Given the description of an element on the screen output the (x, y) to click on. 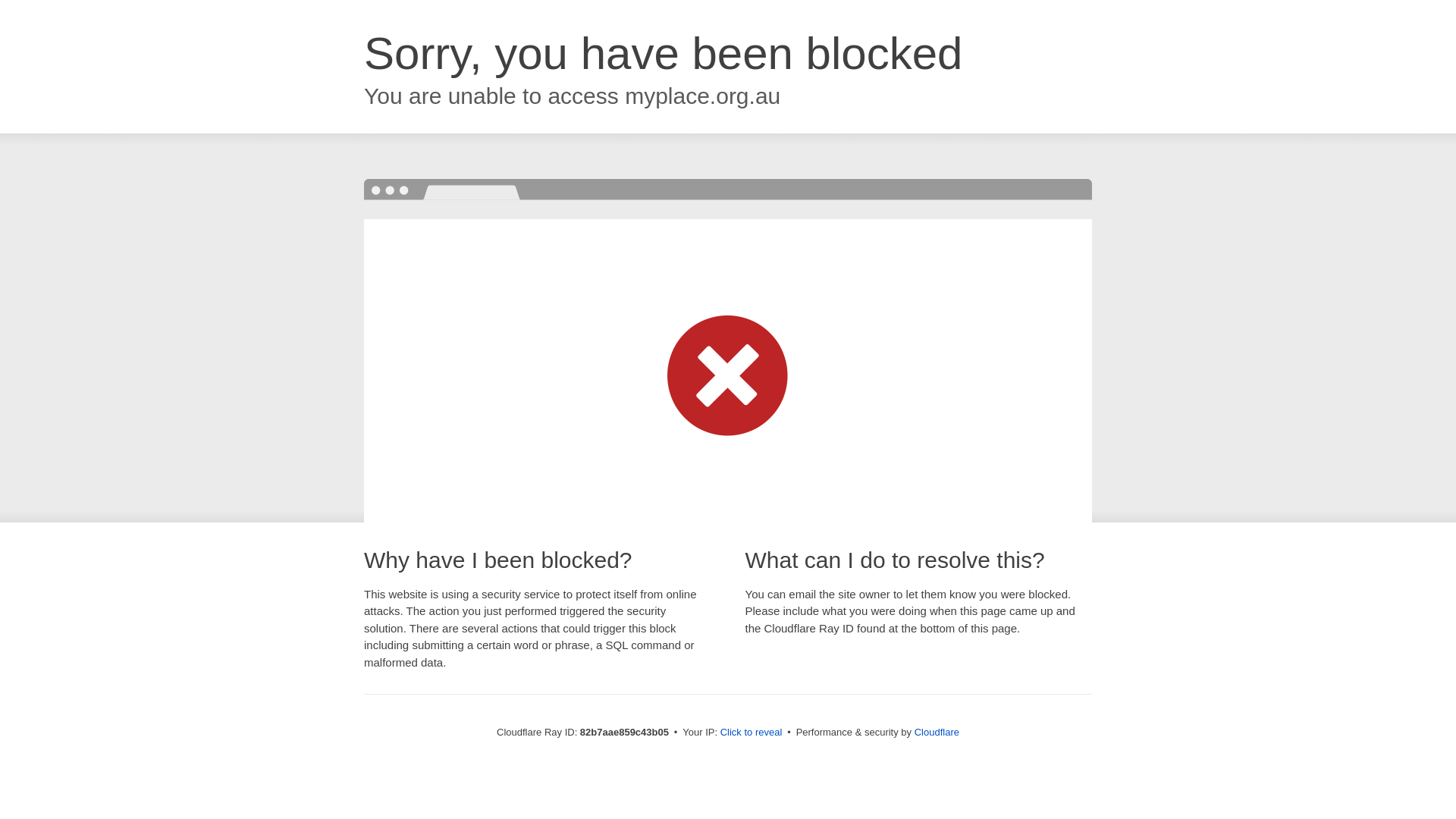
Click to reveal Element type: text (751, 732)
Cloudflare Element type: text (936, 731)
